Given the description of an element on the screen output the (x, y) to click on. 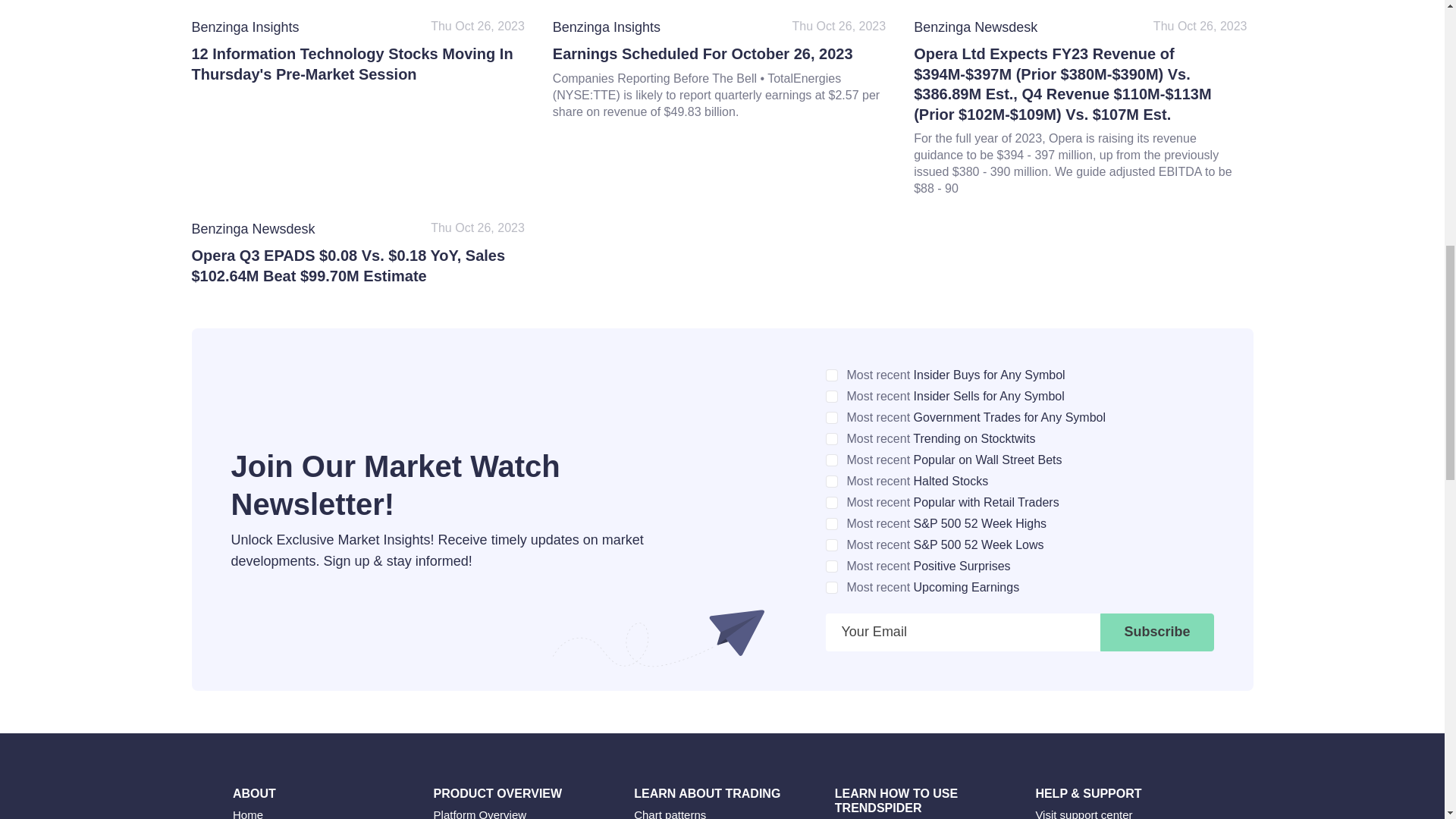
699fe29fdc (831, 502)
a747b9d98f (831, 523)
f719514e42 (831, 396)
c70639aa54 (831, 439)
0b3ee44cd9 (831, 587)
8b92b9941f (831, 375)
502cfe6456 (831, 481)
b6dd00a374 (831, 460)
1b5bdac35d (831, 544)
3a07d46d92 (831, 417)
cf00d8d957 (831, 566)
